Given the description of an element on the screen output the (x, y) to click on. 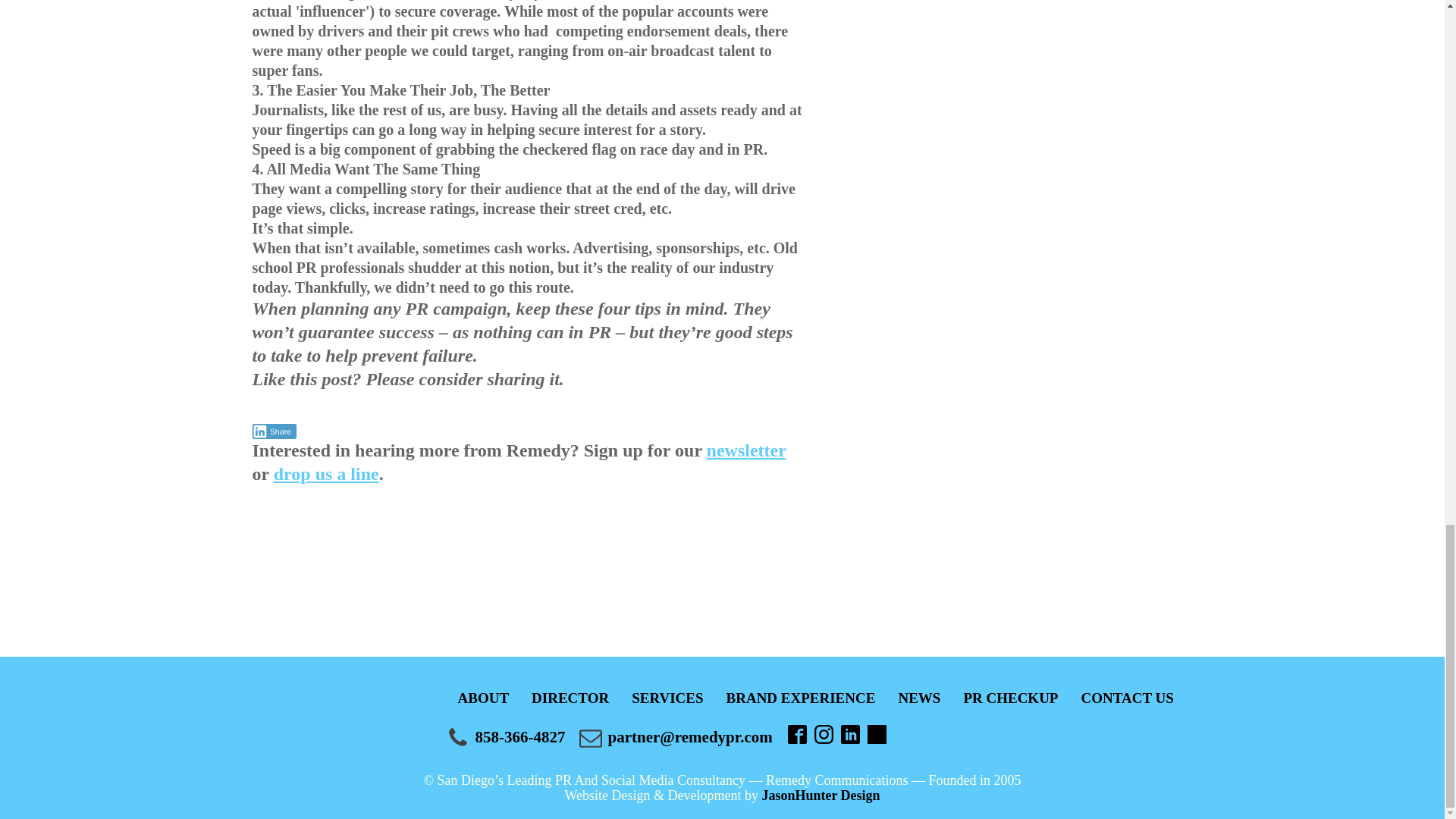
newsletter (746, 450)
Share (274, 431)
drop us a line (325, 474)
